Given the description of an element on the screen output the (x, y) to click on. 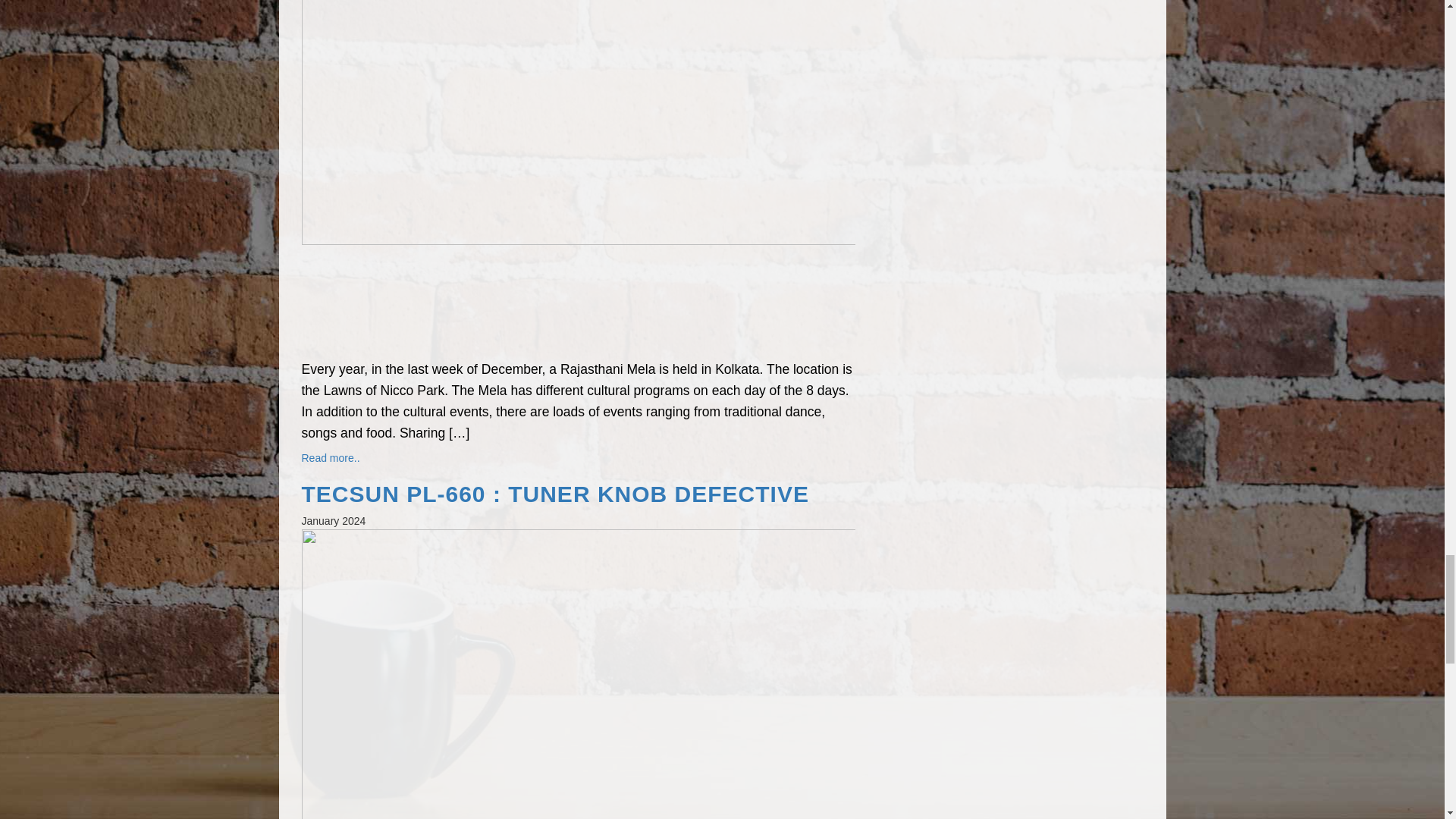
TECSUN PL-660 : TUNER KNOB DEFECTIVE (578, 493)
Read more.. (330, 458)
